Given the description of an element on the screen output the (x, y) to click on. 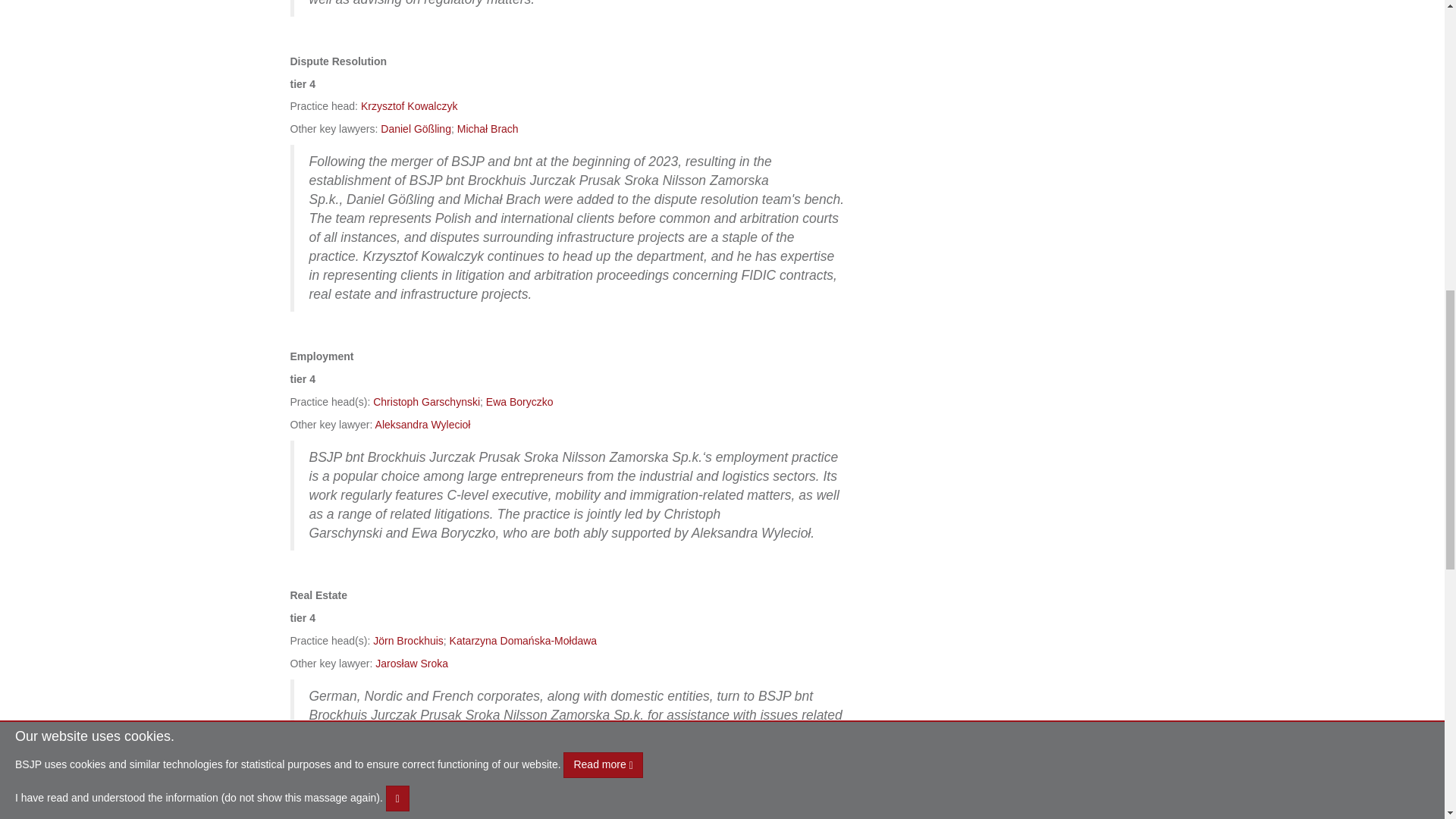
Krzysztof Kowalczyk (409, 105)
Christoph Garschynski (426, 401)
Ewa Boryczko (519, 401)
